Given the description of an element on the screen output the (x, y) to click on. 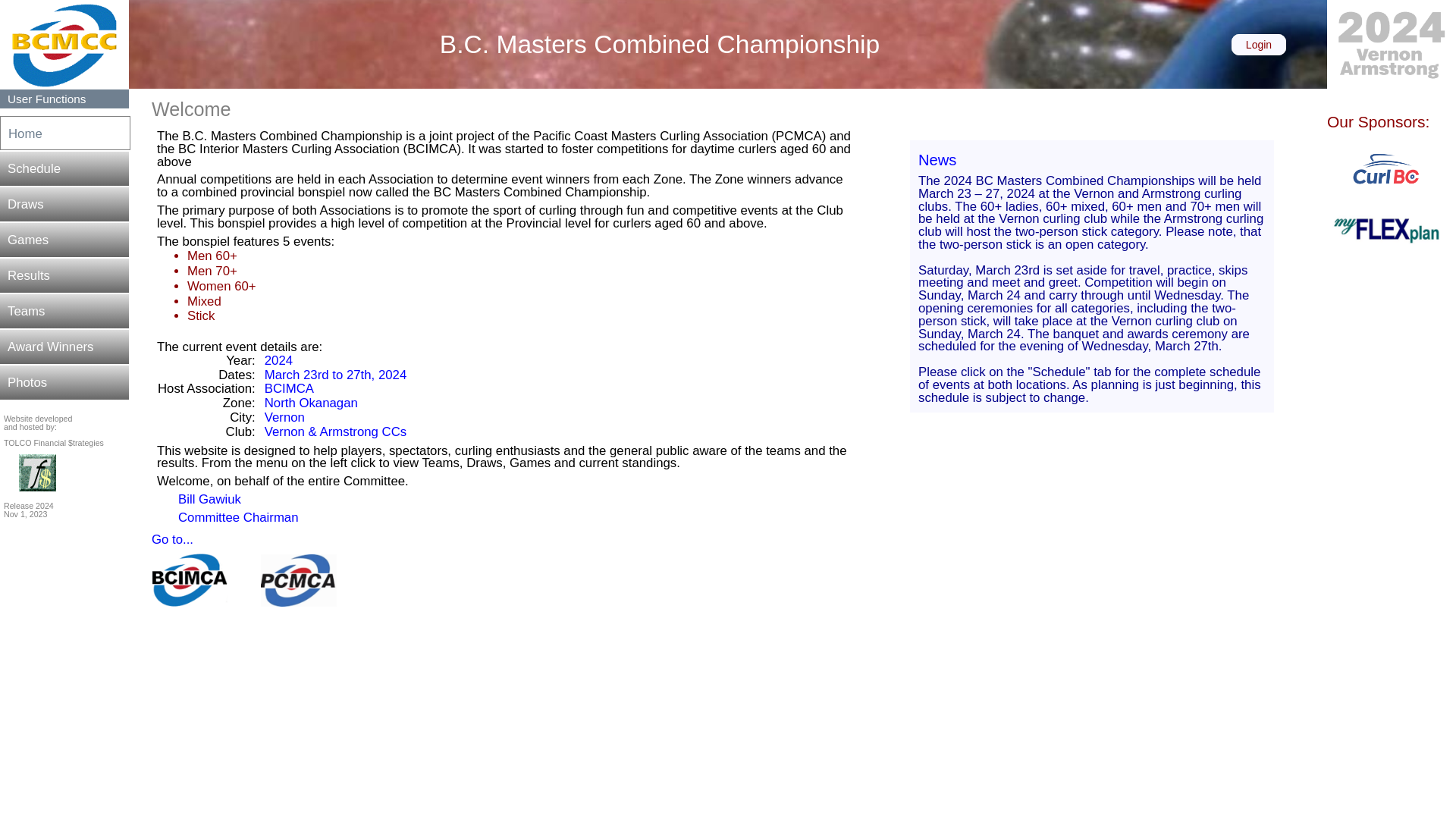
Teams Element type: text (64, 311)
Results Element type: text (64, 275)
Photos Element type: text (64, 382)
Games Element type: text (64, 239)
Schedule Element type: text (64, 168)
  Login   Element type: text (1258, 44)
Award Winners Element type: text (64, 346)
Draws Element type: text (64, 204)
